Given the description of an element on the screen output the (x, y) to click on. 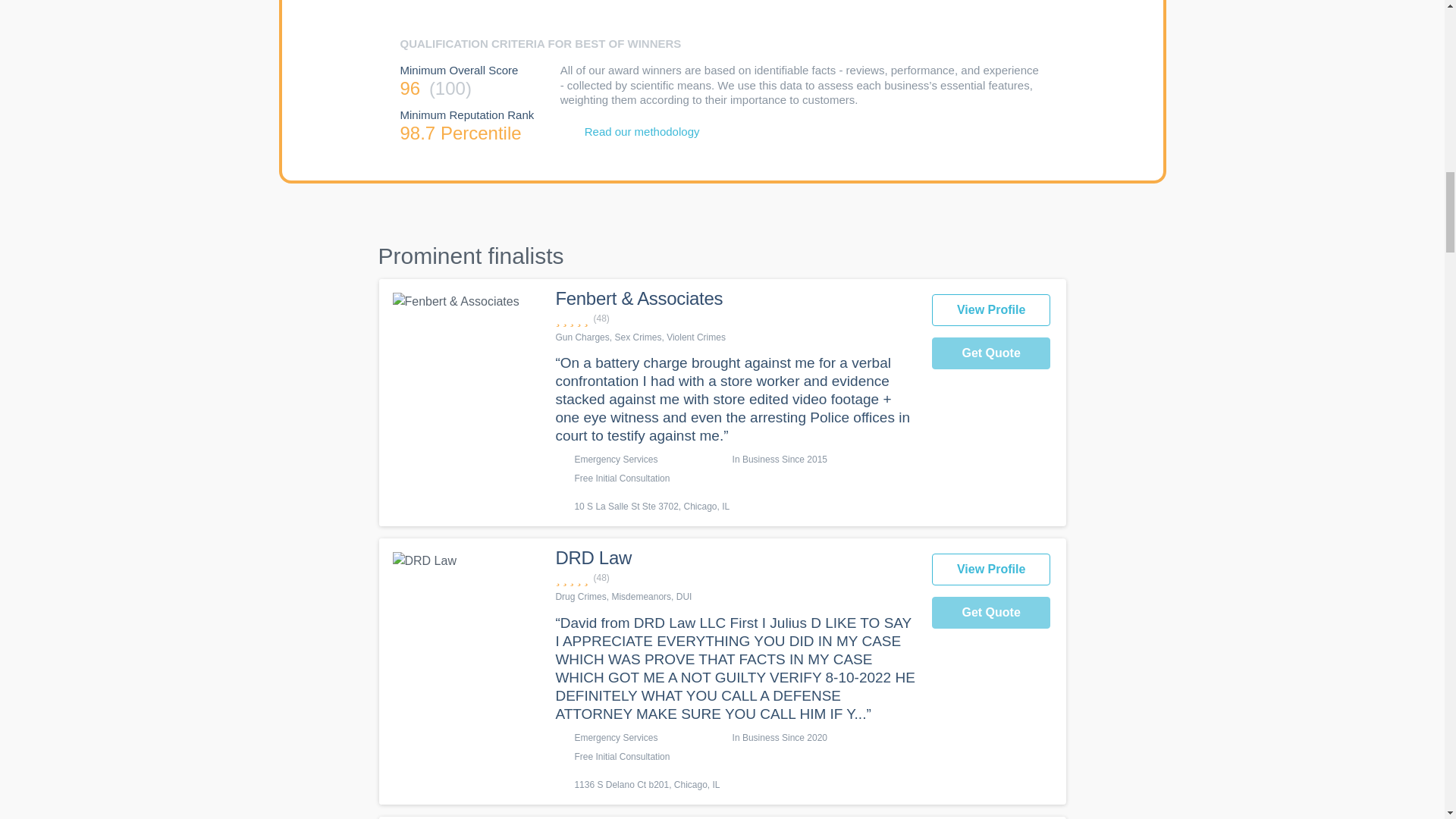
4.9 (734, 577)
4.9 (734, 318)
